Given the description of an element on the screen output the (x, y) to click on. 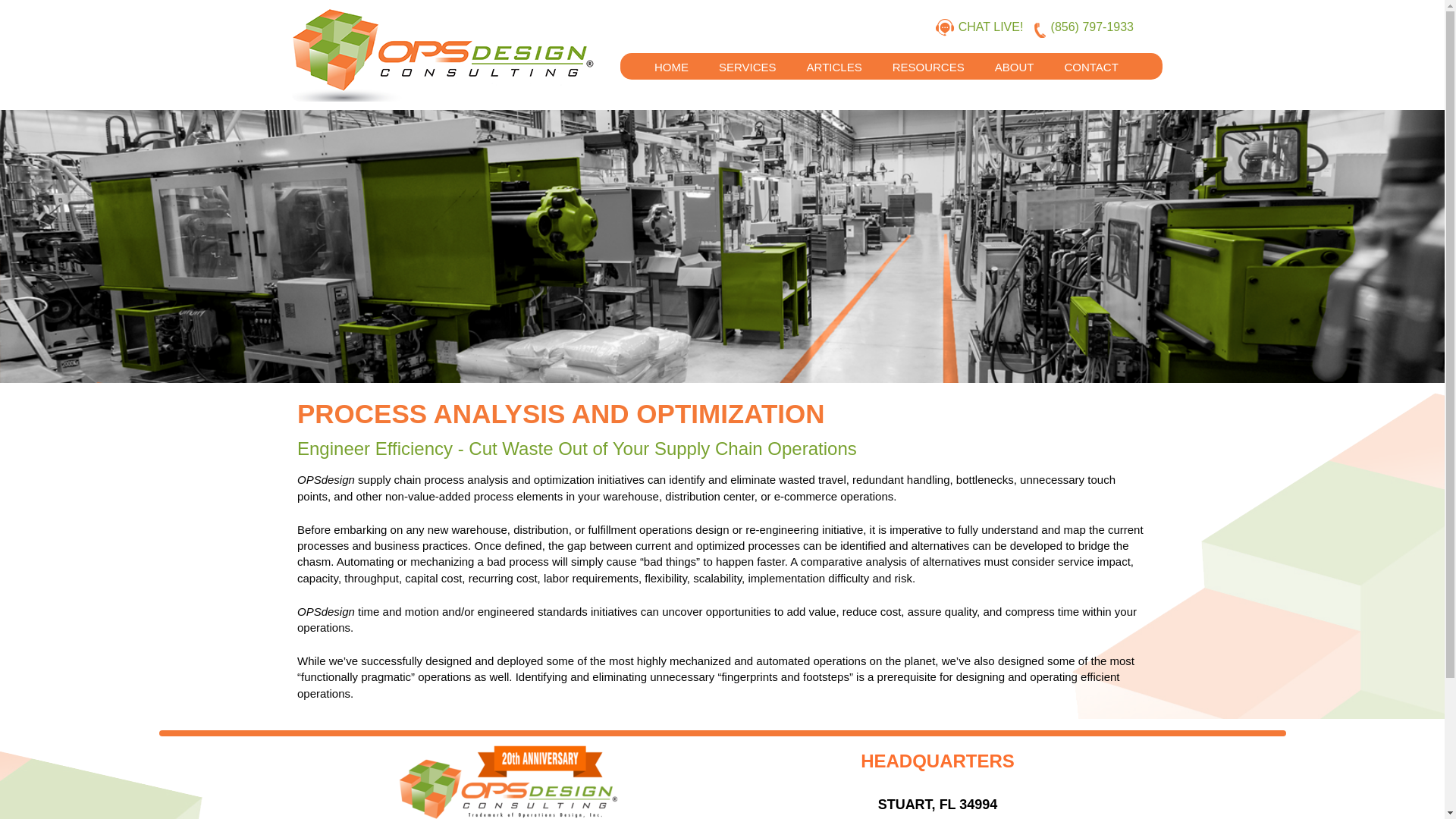
ABOUT (1014, 58)
HOME (671, 58)
CONTACT (1090, 58)
ARTICLES (834, 58)
RESOURCES (928, 58)
CHAT LIVE! (994, 26)
SERVICES (747, 58)
